Given the description of an element on the screen output the (x, y) to click on. 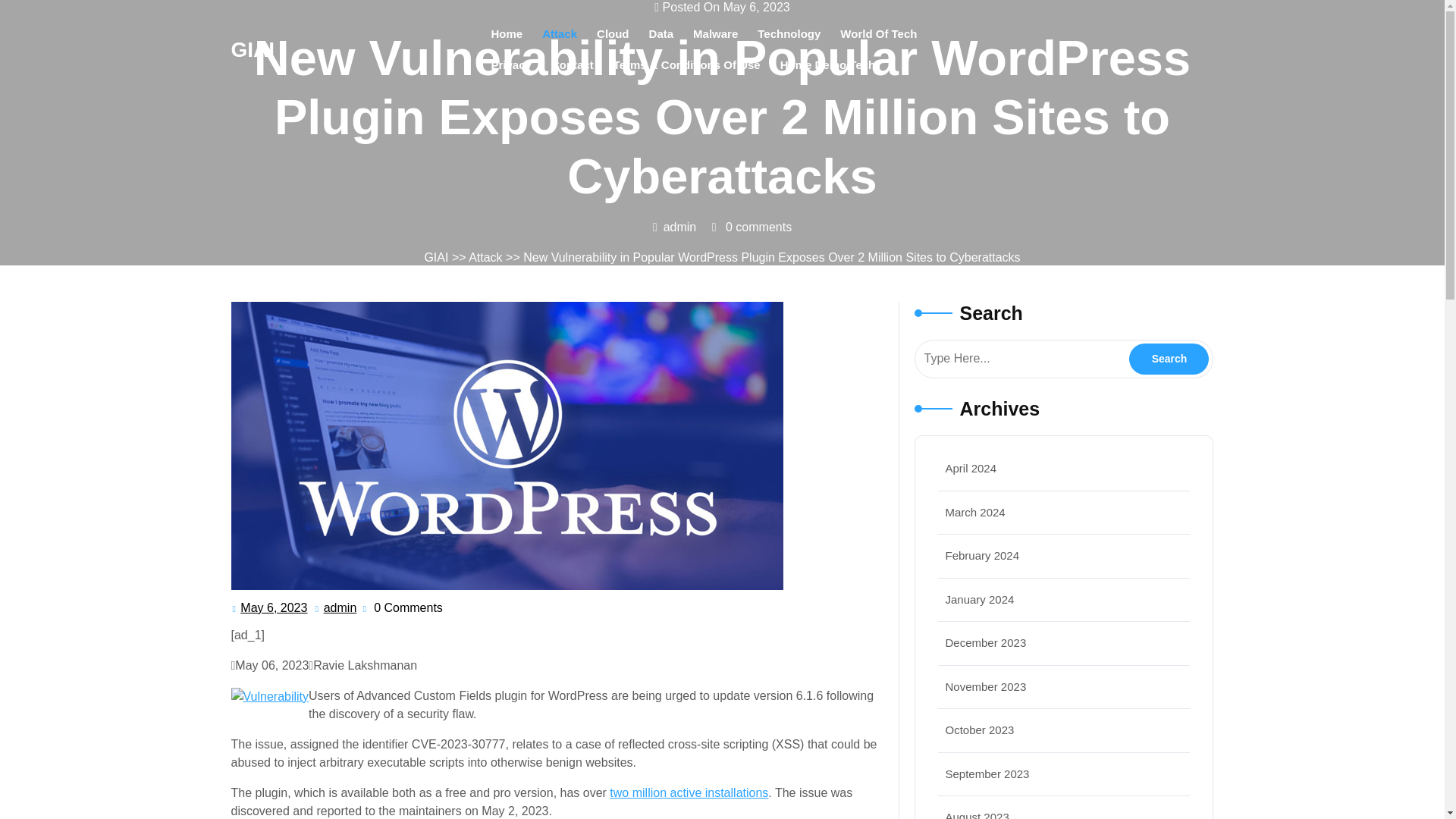
two million active installations (689, 792)
World Of Tech (877, 33)
Cloud (612, 33)
Data (339, 608)
Technology (661, 33)
Search (788, 33)
Malware (1168, 358)
Contact (715, 33)
Privacy (572, 64)
